Given the description of an element on the screen output the (x, y) to click on. 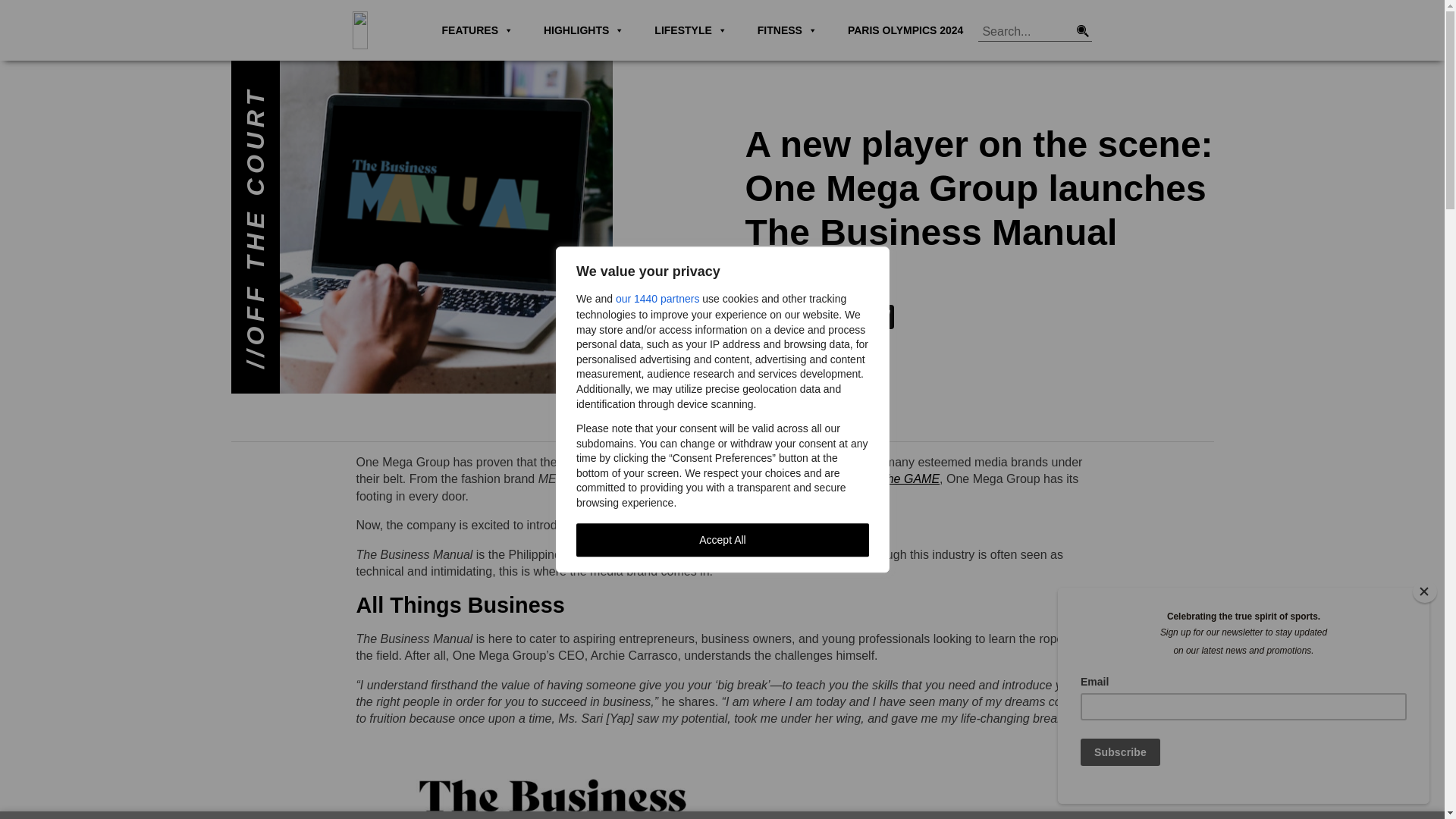
Accept All (722, 539)
our 1440 partners (656, 298)
Messenger (850, 318)
X (789, 318)
Facebook (759, 318)
Email (820, 318)
Telegram (881, 318)
